Given the description of an element on the screen output the (x, y) to click on. 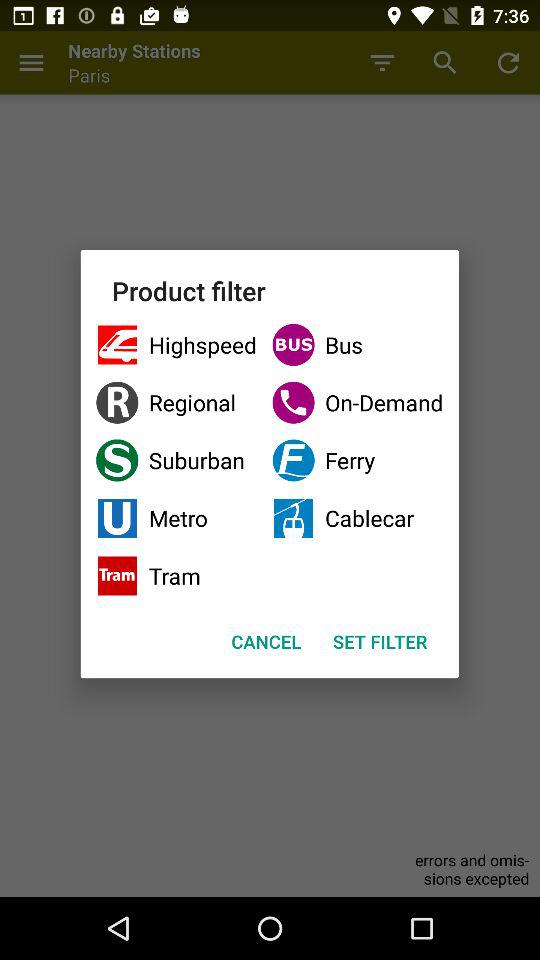
launch the icon above metro checkbox (176, 460)
